Given the description of an element on the screen output the (x, y) to click on. 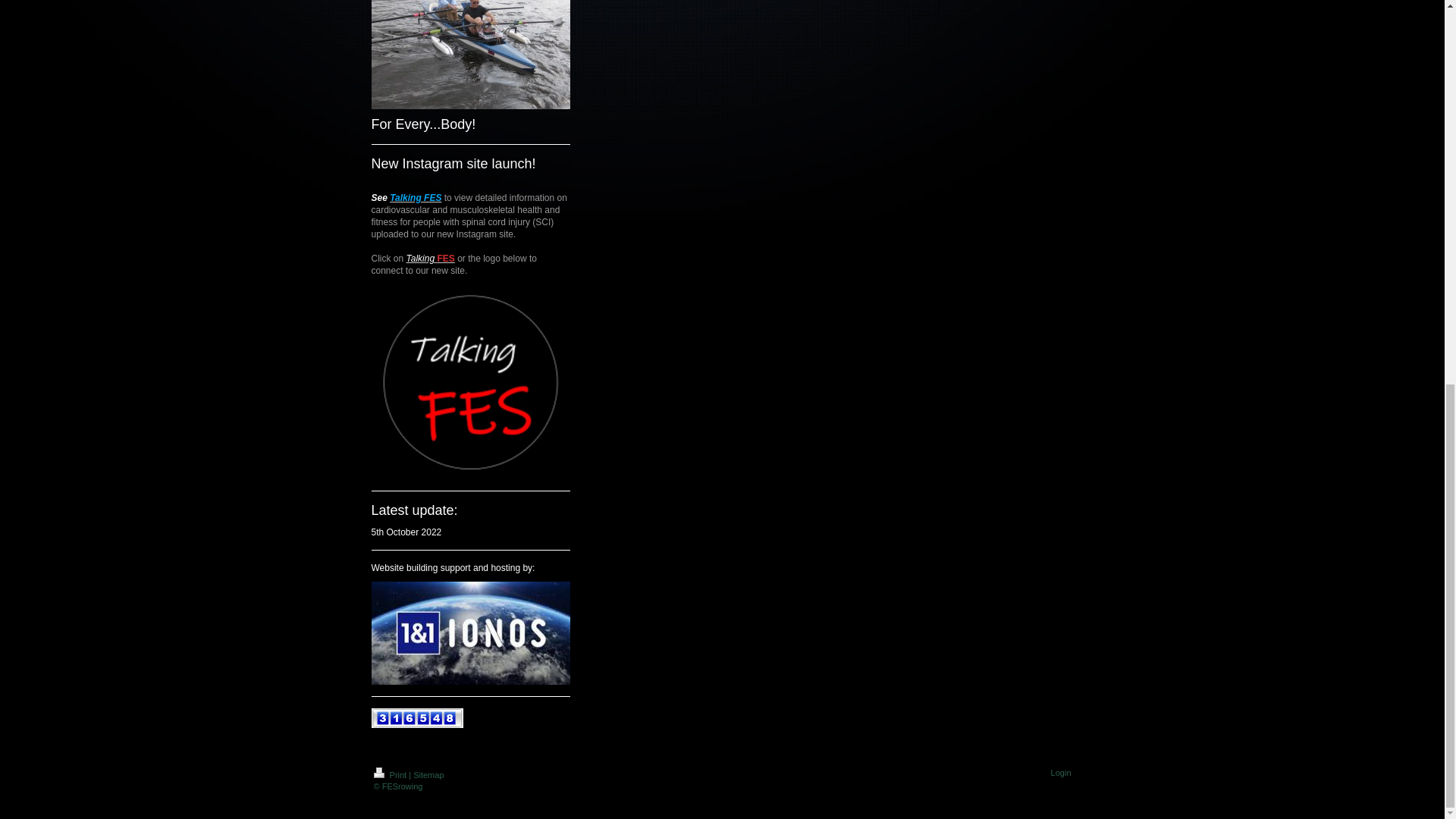
Login (1061, 772)
Sitemap (428, 774)
Print (390, 774)
Talking FES (415, 197)
Talking FES (430, 258)
